Given the description of an element on the screen output the (x, y) to click on. 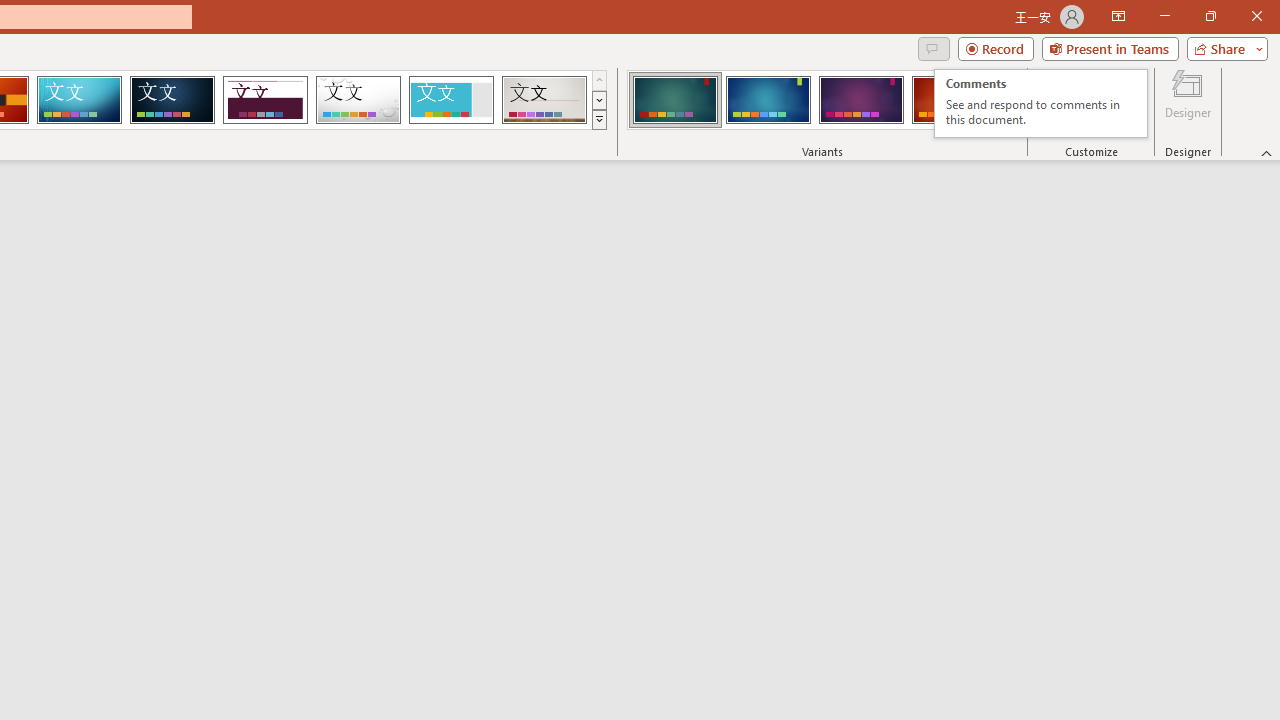
Slide Size (1056, 102)
Ion Variant 2 (768, 100)
Themes (598, 120)
Format Background (1111, 102)
Ion Variant 1 (674, 100)
Circuit Loading Preview... (79, 100)
AutomationID: ThemeVariantsGallery (822, 99)
